Given the description of an element on the screen output the (x, y) to click on. 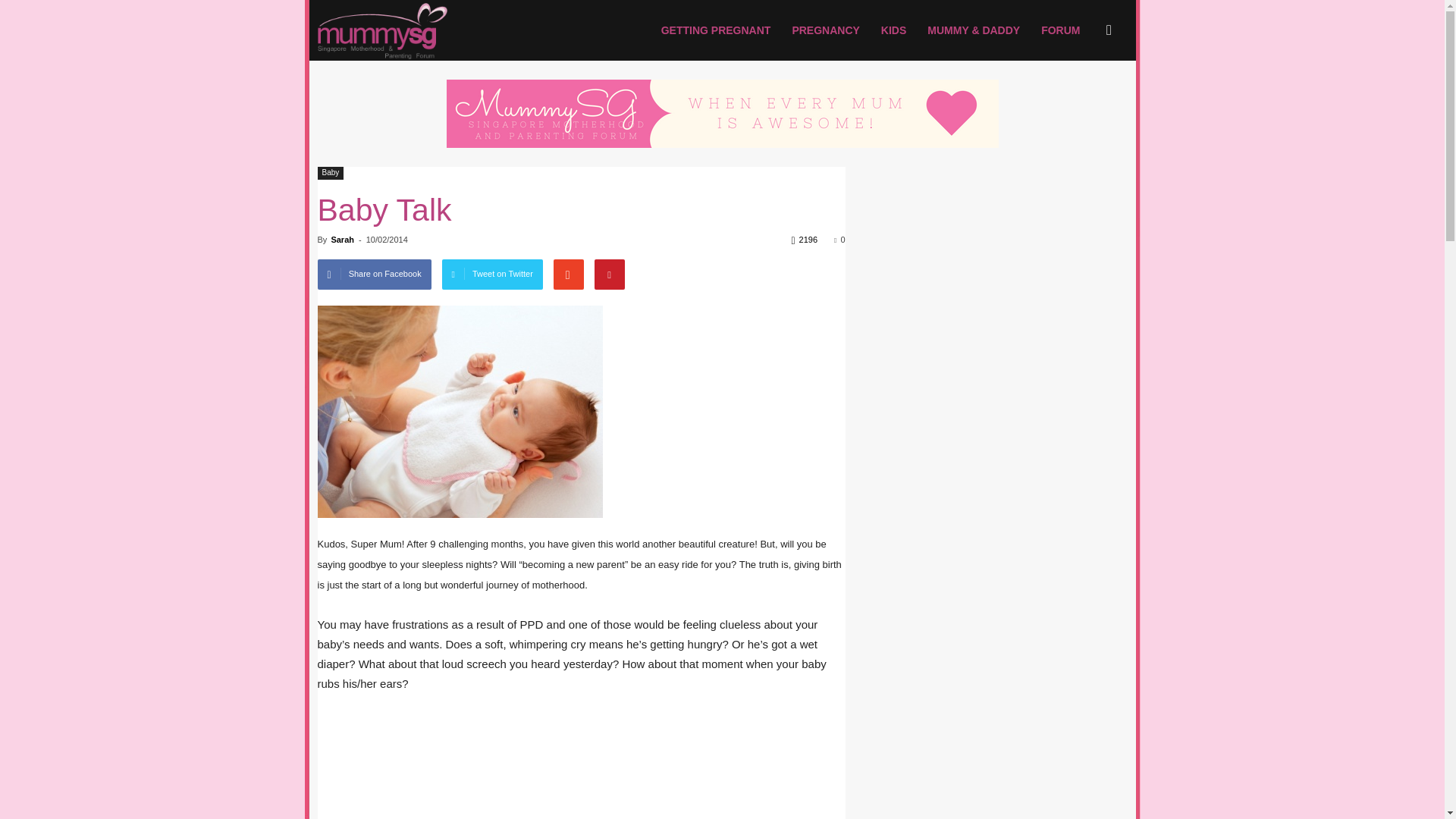
Share on Facebook (373, 274)
Sarah (341, 239)
0 (839, 239)
MummySG (381, 30)
FORUM (1060, 30)
GETTING PREGNANT (715, 30)
Baby (330, 173)
Tweet on Twitter (492, 274)
PREGNANCY (824, 30)
